Given the description of an element on the screen output the (x, y) to click on. 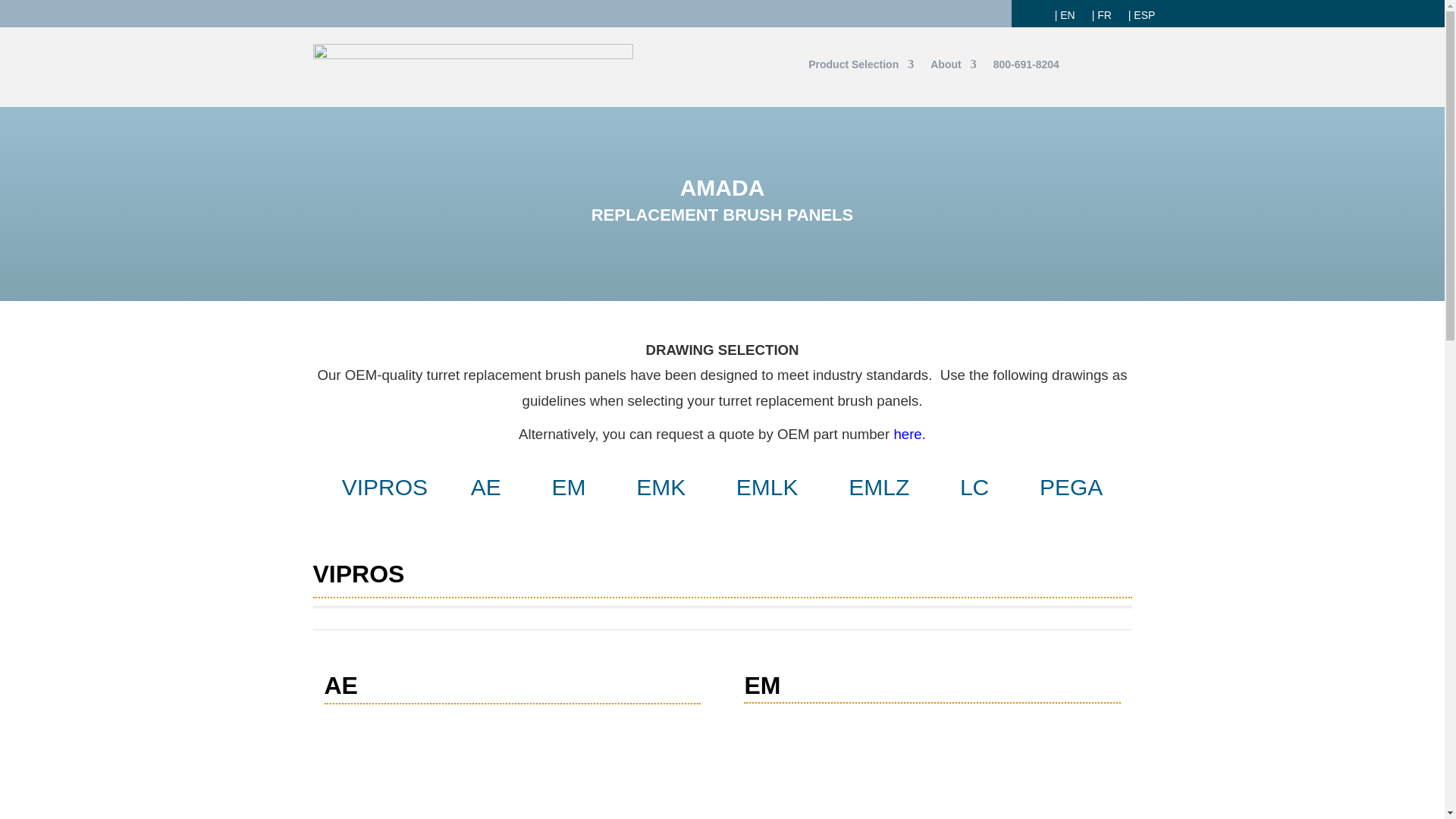
About (952, 67)
AE (485, 487)
EMLK (766, 487)
Product Selection (861, 67)
LC (973, 487)
EM (568, 487)
VIPROS (385, 487)
EMK (660, 487)
EMLZ (878, 487)
PEGA (1070, 487)
here. (907, 433)
800-691-8204 (1025, 67)
